Given the description of an element on the screen output the (x, y) to click on. 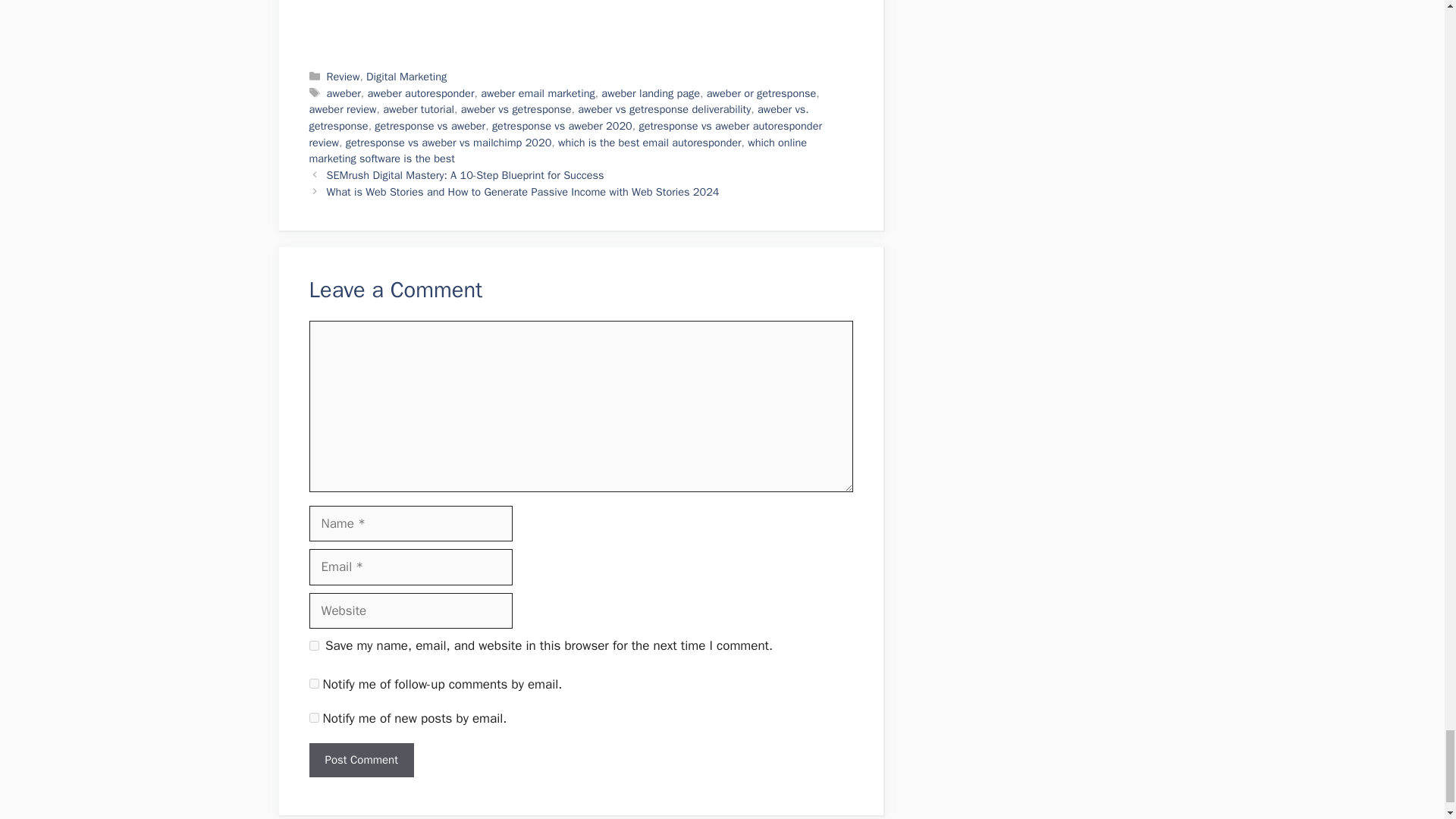
subscribe (313, 717)
Digital Marketing (406, 76)
yes (313, 645)
aweber tutorial (418, 109)
aweber email marketing (537, 92)
aweber review (342, 109)
aweber or getresponse (760, 92)
aweber vs getresponse (516, 109)
aweber autoresponder (421, 92)
aweber (343, 92)
Post Comment (360, 759)
subscribe (313, 683)
Review (342, 76)
aweber landing page (650, 92)
